Given the description of an element on the screen output the (x, y) to click on. 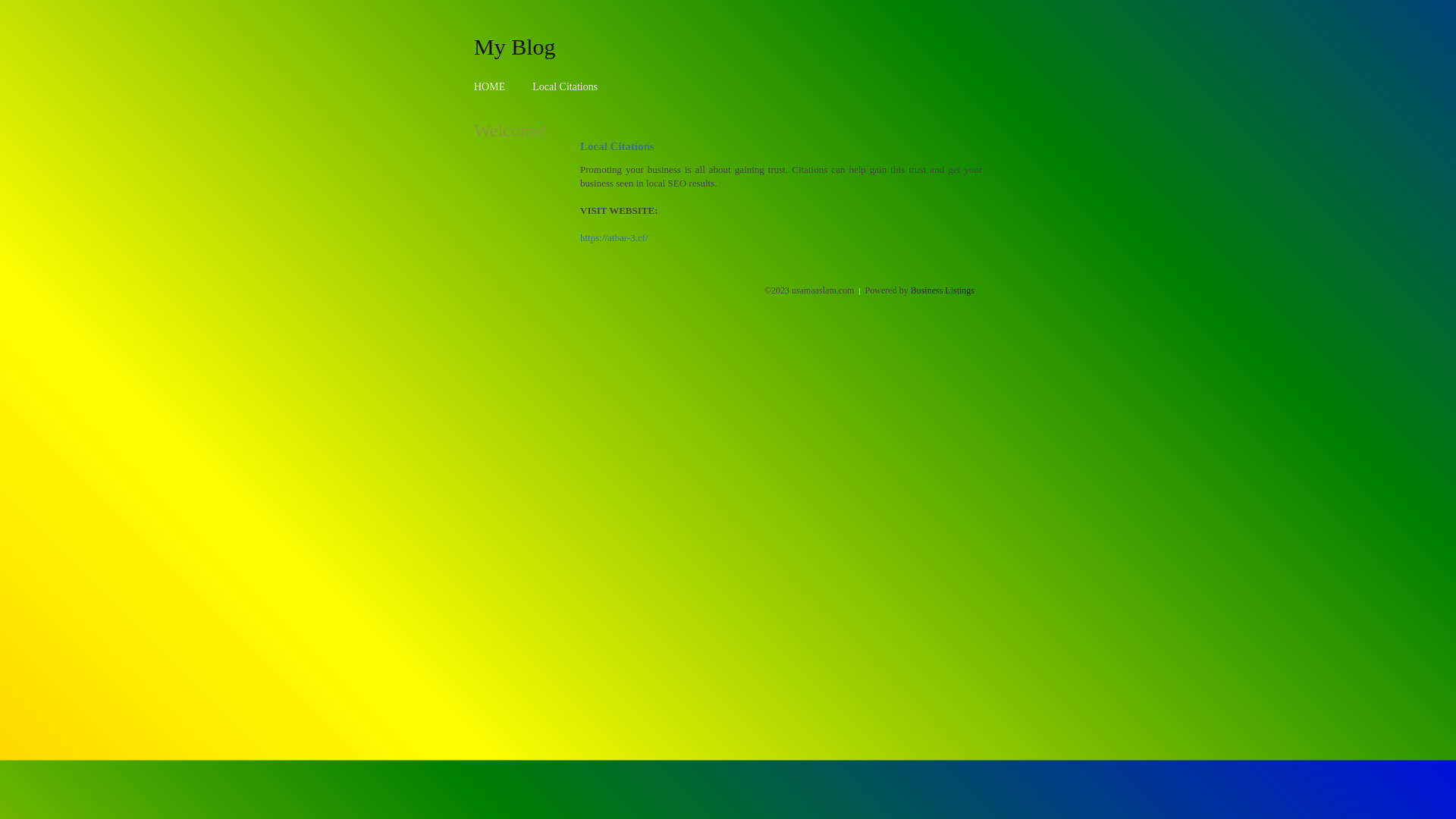
My Blog Element type: text (514, 46)
https://atbar-3.cf/ Element type: text (614, 237)
Local Citations Element type: text (564, 86)
Business Listings Element type: text (942, 290)
HOME Element type: text (489, 86)
